Given the description of an element on the screen output the (x, y) to click on. 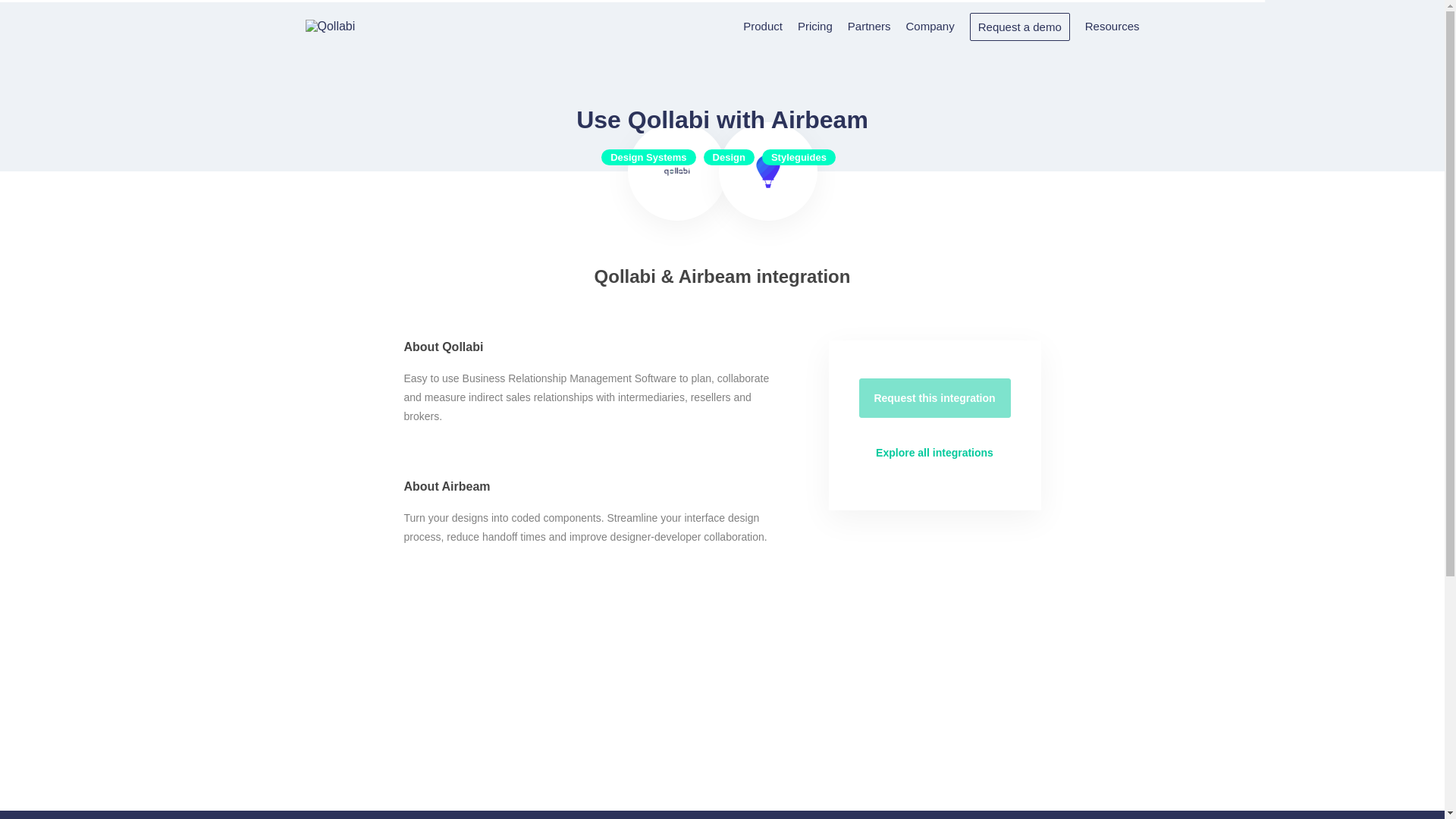
Resources (1112, 25)
Pricing (814, 25)
Partners (869, 25)
Company (929, 25)
Request a demo (1019, 26)
Airbeam (768, 171)
Request this integration (934, 397)
Qollabi (329, 26)
Product (762, 25)
Explore all integrations (934, 452)
